Given the description of an element on the screen output the (x, y) to click on. 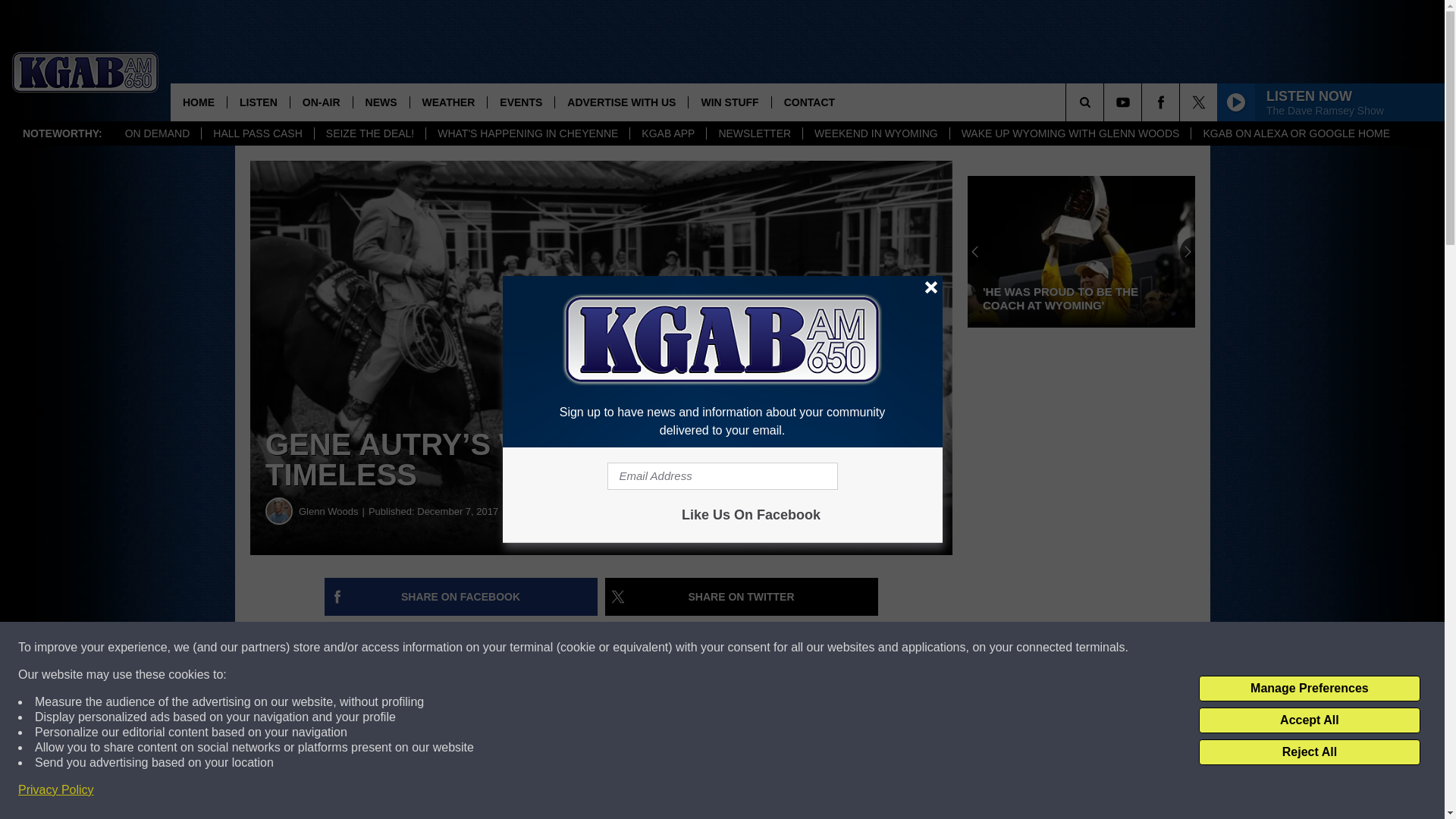
LISTEN (258, 102)
HOME (198, 102)
WEEKEND IN WYOMING (875, 133)
Privacy Policy (55, 789)
SEARCH (1106, 102)
Share on Twitter (741, 596)
Accept All (1309, 720)
SEIZE THE DEAL! (369, 133)
Reject All (1309, 751)
NEWS (380, 102)
NOTEWORTHY: (62, 133)
Manage Preferences (1309, 688)
WHAT'S HAPPENING IN CHEYENNE (526, 133)
NEWSLETTER (754, 133)
Email Address (722, 475)
